Given the description of an element on the screen output the (x, y) to click on. 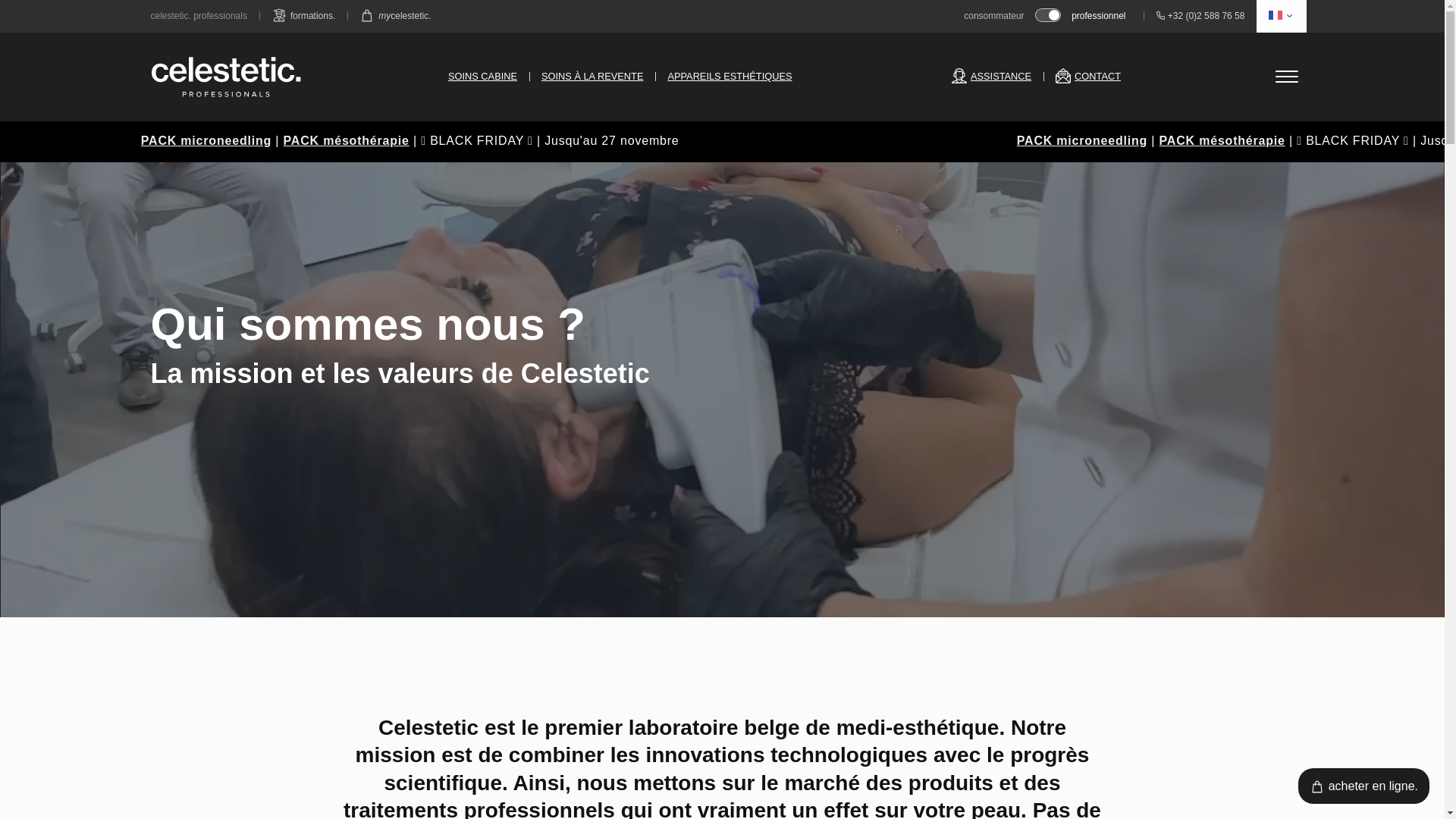
ASSISTANCE Element type: text (991, 76)
mycelestetic. Element type: text (394, 16)
+32 (0)2 588 76 58 Element type: text (1200, 16)
acheter en ligne. Element type: text (1363, 785)
PACK microneedling Element type: text (573, 140)
SOINS CABINE Element type: text (482, 76)
formations. Element type: text (303, 16)
CONTACT Element type: text (1087, 76)
celestetic. professionals Element type: text (198, 16)
consommateur Element type: text (997, 15)
